Given the description of an element on the screen output the (x, y) to click on. 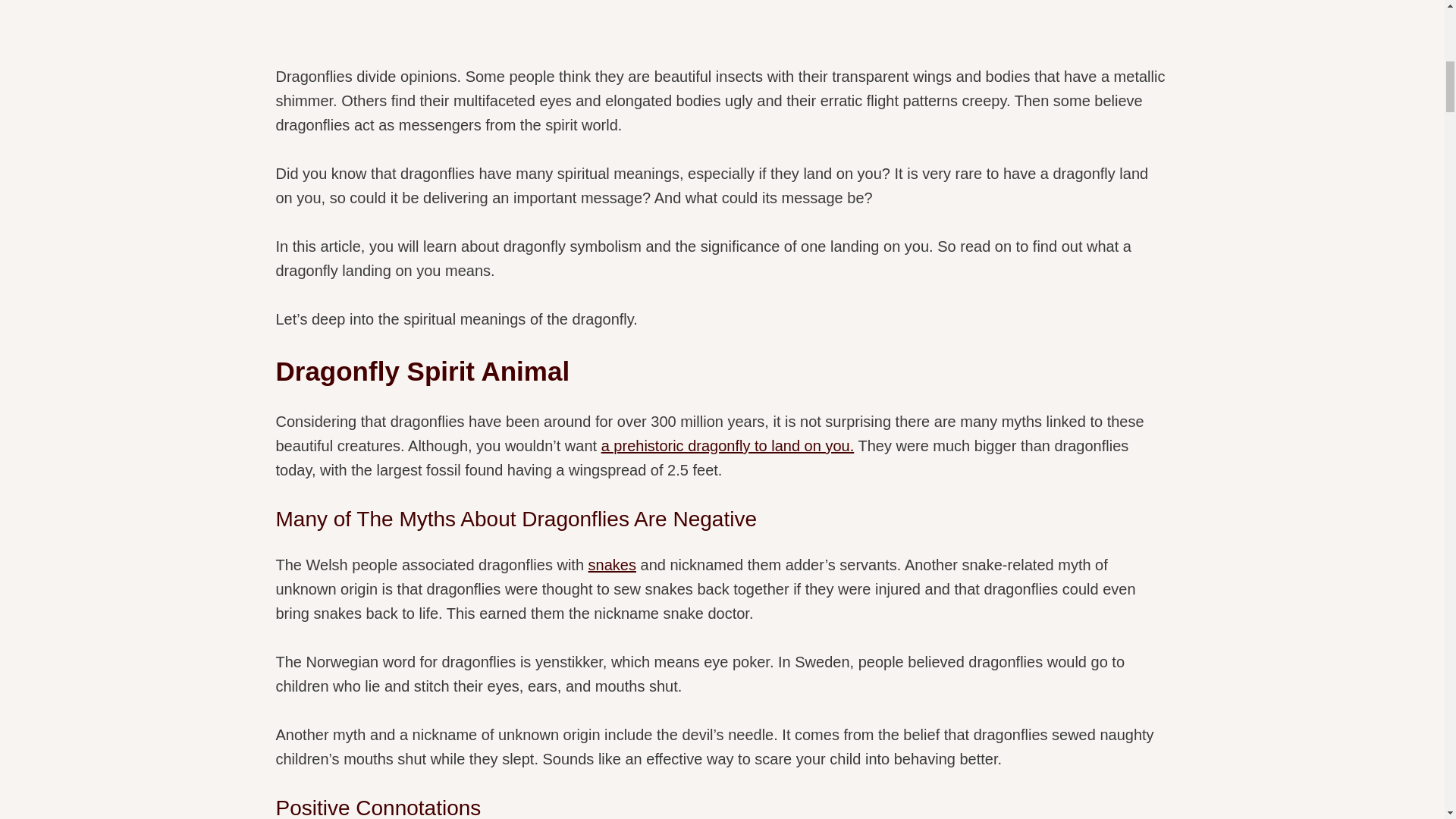
snakes (612, 564)
a prehistoric dragonfly to land on you. (727, 445)
